Given the description of an element on the screen output the (x, y) to click on. 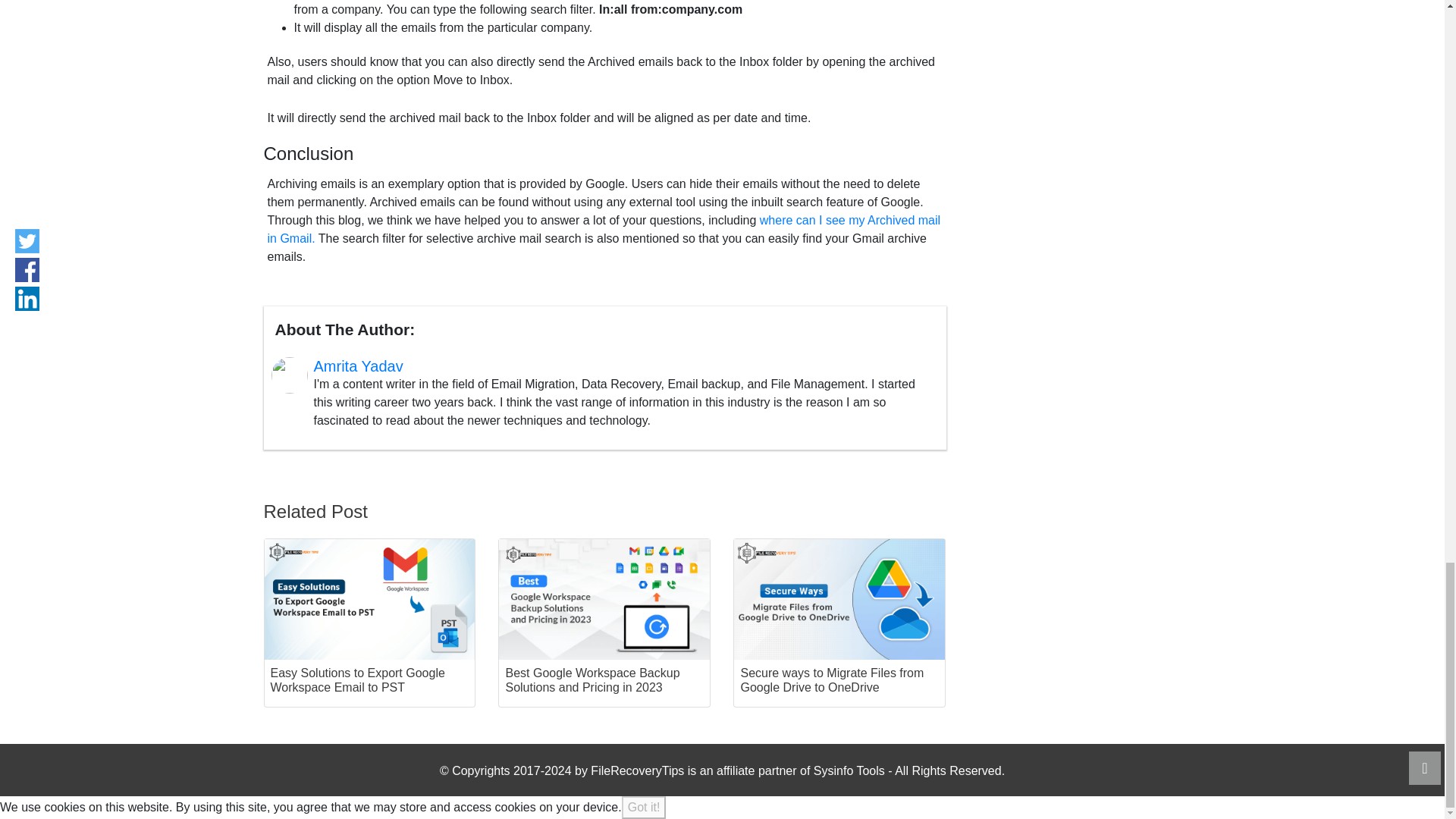
where can I see my Archived mail in Gmail. (603, 228)
Amrita Yadav (358, 365)
Easy Solutions to Export Google Workspace Email to PST (368, 622)
Best Google Workspace Backup Solutions and Pricing in 2023 (604, 622)
Sysinfo Tools (849, 770)
Posts by Amrita Yadav (358, 365)
Secure ways to Migrate Files from Google Drive to OneDrive (838, 622)
Best Google Workspace Backup Solutions and Pricing in 2023 (604, 622)
Easy Solutions to Export Google Workspace Email to PST (368, 622)
Secure ways to Migrate Files from Google Drive to OneDrive (838, 622)
